Given the description of an element on the screen output the (x, y) to click on. 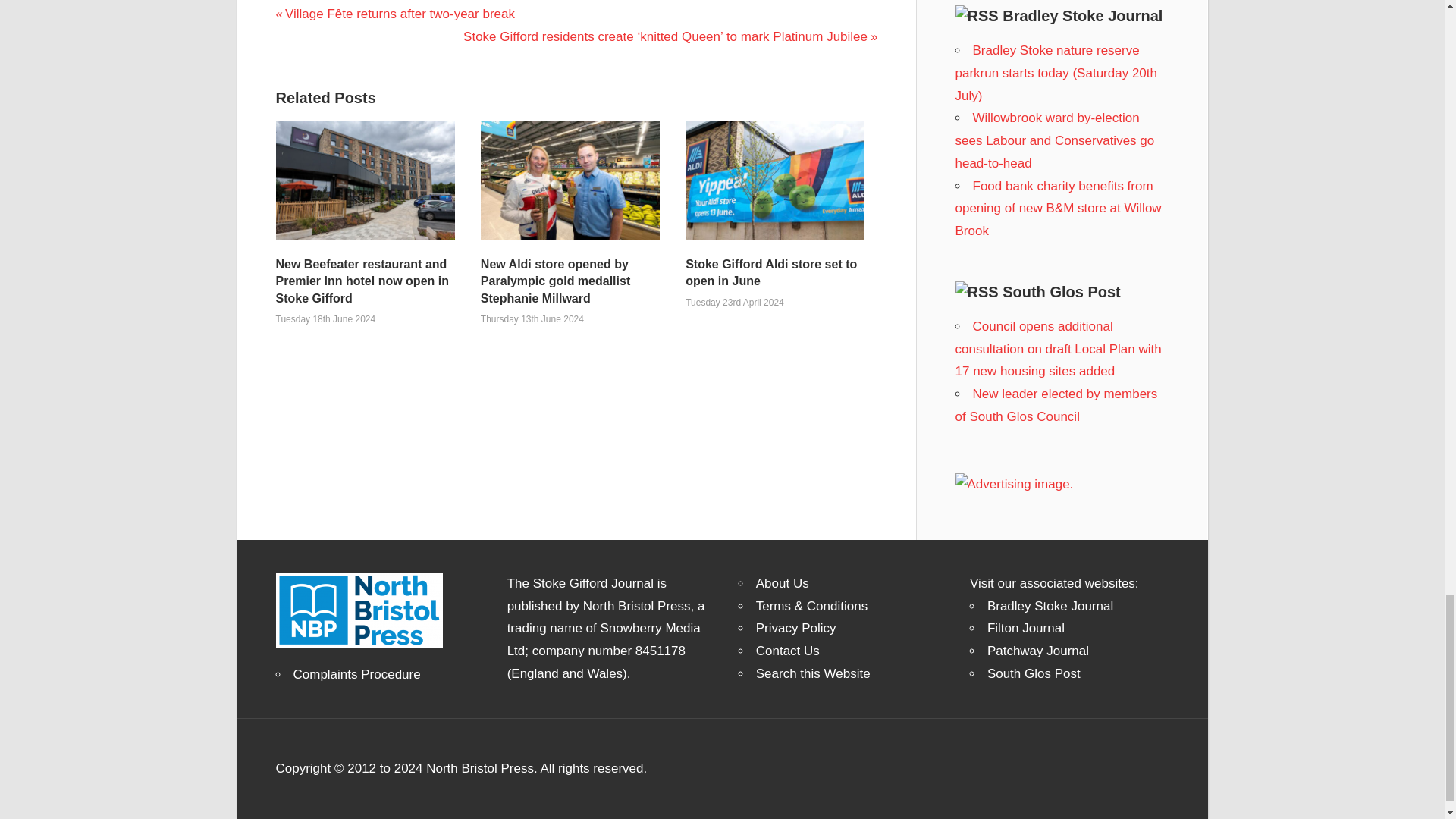
3:34pm (531, 318)
10:15pm (325, 318)
